Given the description of an element on the screen output the (x, y) to click on. 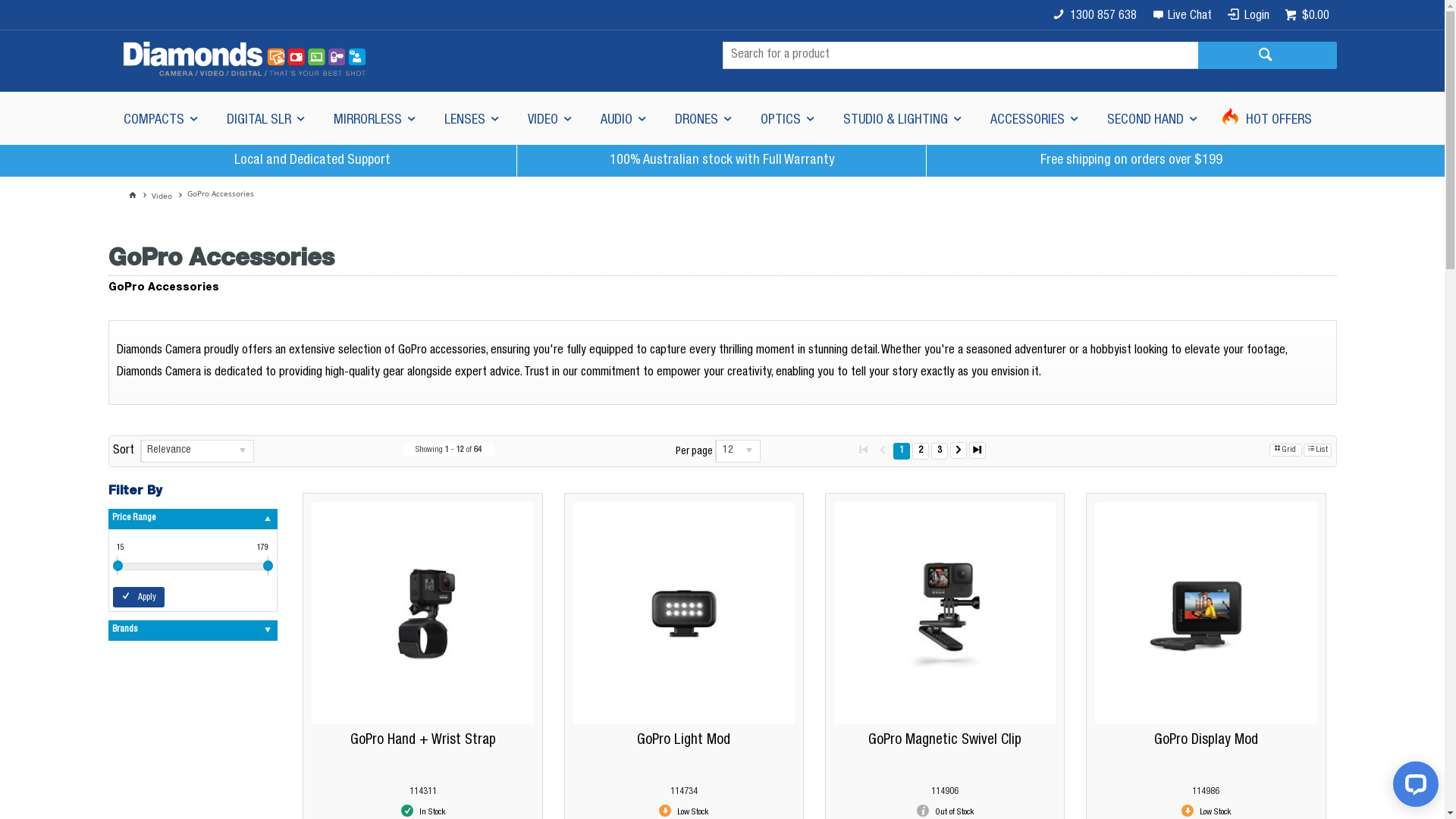
2 Element type: text (920, 450)
Video Element type: text (169, 195)
Local and Dedicated Support Element type: text (312, 160)
DIGITAL SLR Element type: text (263, 117)
gopro-black-magnetic-swivel-clip-1440-1 Element type: hover (945, 613)
GoPro Magnetic Swivel Clip Element type: text (945, 740)
Customer reviews powered by Trustpilot Element type: hover (1191, 206)
GoPro Display Mod Element type: text (1205, 740)
LENSES Element type: text (470, 117)
drag Element type: hover (268, 565)
gopro_wrist_Strap_01 Element type: hover (422, 613)
GoPro Hand + Wrist Strap Element type: text (422, 740)
$0.00 Element type: text (1306, 15)
ACCESSORIES Element type: text (1033, 117)
100% Australian stock with Full Warranty Element type: text (721, 160)
MIRRORLESS Element type: text (373, 117)
1300 857 638 Element type: text (1094, 15)
DRONES Element type: text (702, 117)
gopro_LightMod_01 Element type: hover (684, 613)
Free shipping on orders over $199 Element type: text (1131, 160)
COMPACTS Element type: text (158, 117)
3 Element type: text (939, 450)
Live Chat Element type: text (1180, 15)
VIDEO Element type: text (548, 117)
SECOND HAND Element type: text (1151, 117)
HOT OFFERS Element type: text (1268, 117)
drag Element type: hover (117, 565)
1 Element type: text (901, 450)
OPTICS Element type: text (785, 117)
GoPro Light Mod Element type: text (683, 740)
STUDIO & LIGHTING Element type: text (901, 117)
gopro-displaymod-02 Element type: hover (1206, 613)
Login Element type: text (1248, 15)
AUDIO Element type: text (622, 117)
Apply Element type: text (137, 596)
